Given the description of an element on the screen output the (x, y) to click on. 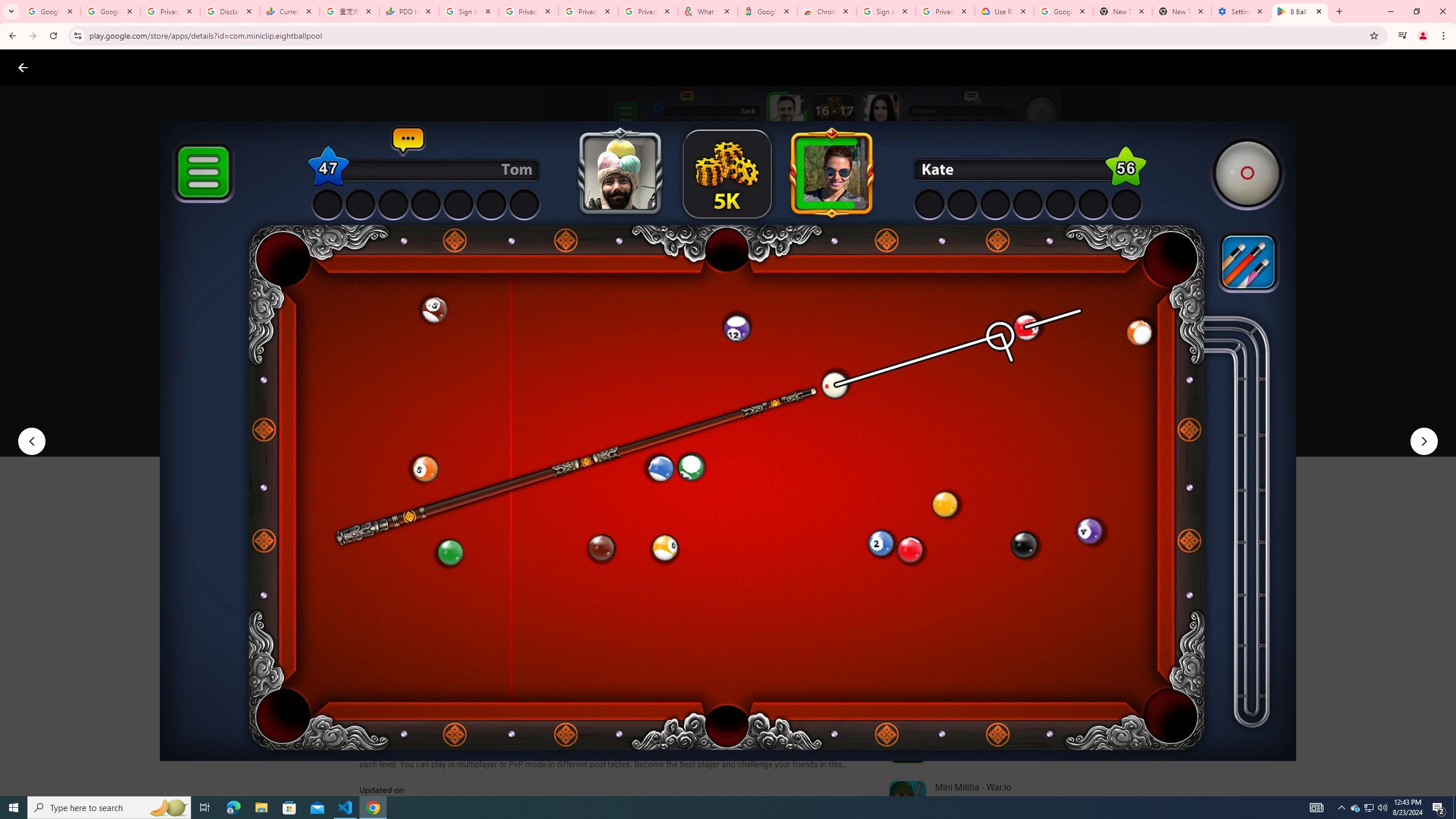
Google (767, 11)
See more information on More by Miniclip.com (1029, 539)
Sign in - Google Accounts (885, 11)
Currencies - Google Finance (289, 11)
Privacy Checkup (647, 11)
